Given the description of an element on the screen output the (x, y) to click on. 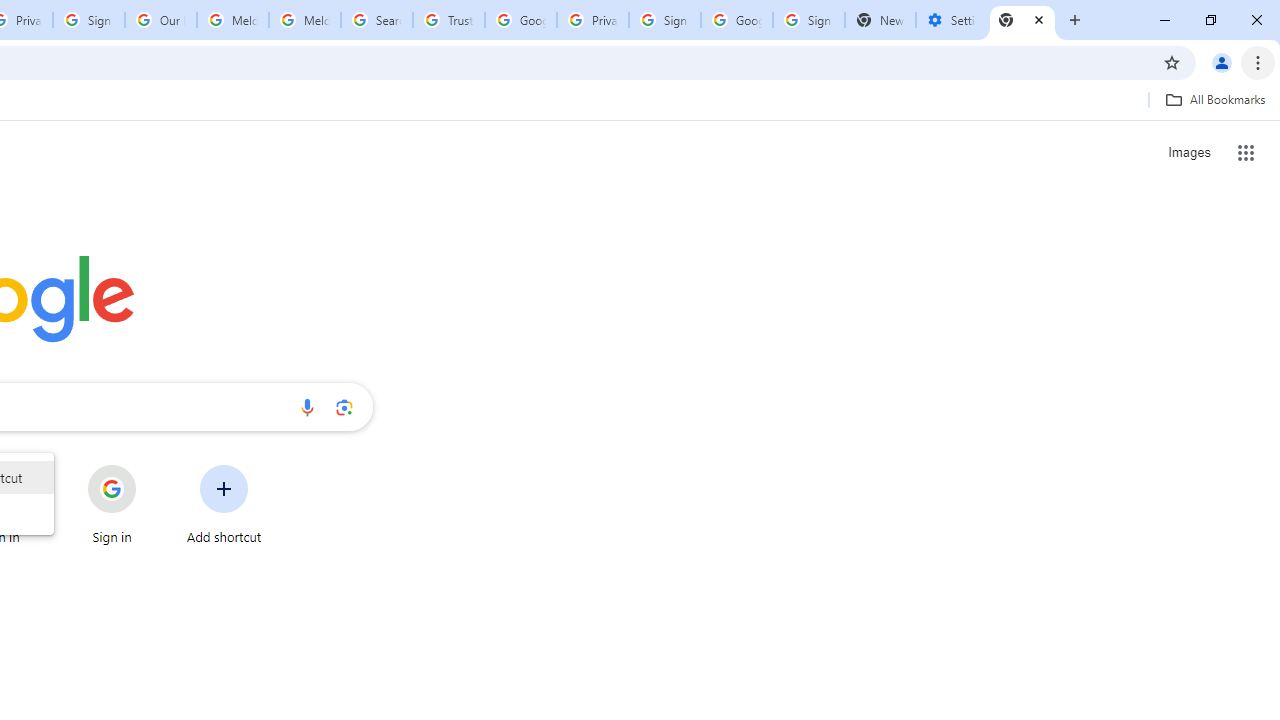
Google Ads - Sign in (520, 20)
New Tab (1022, 20)
